Given the description of an element on the screen output the (x, y) to click on. 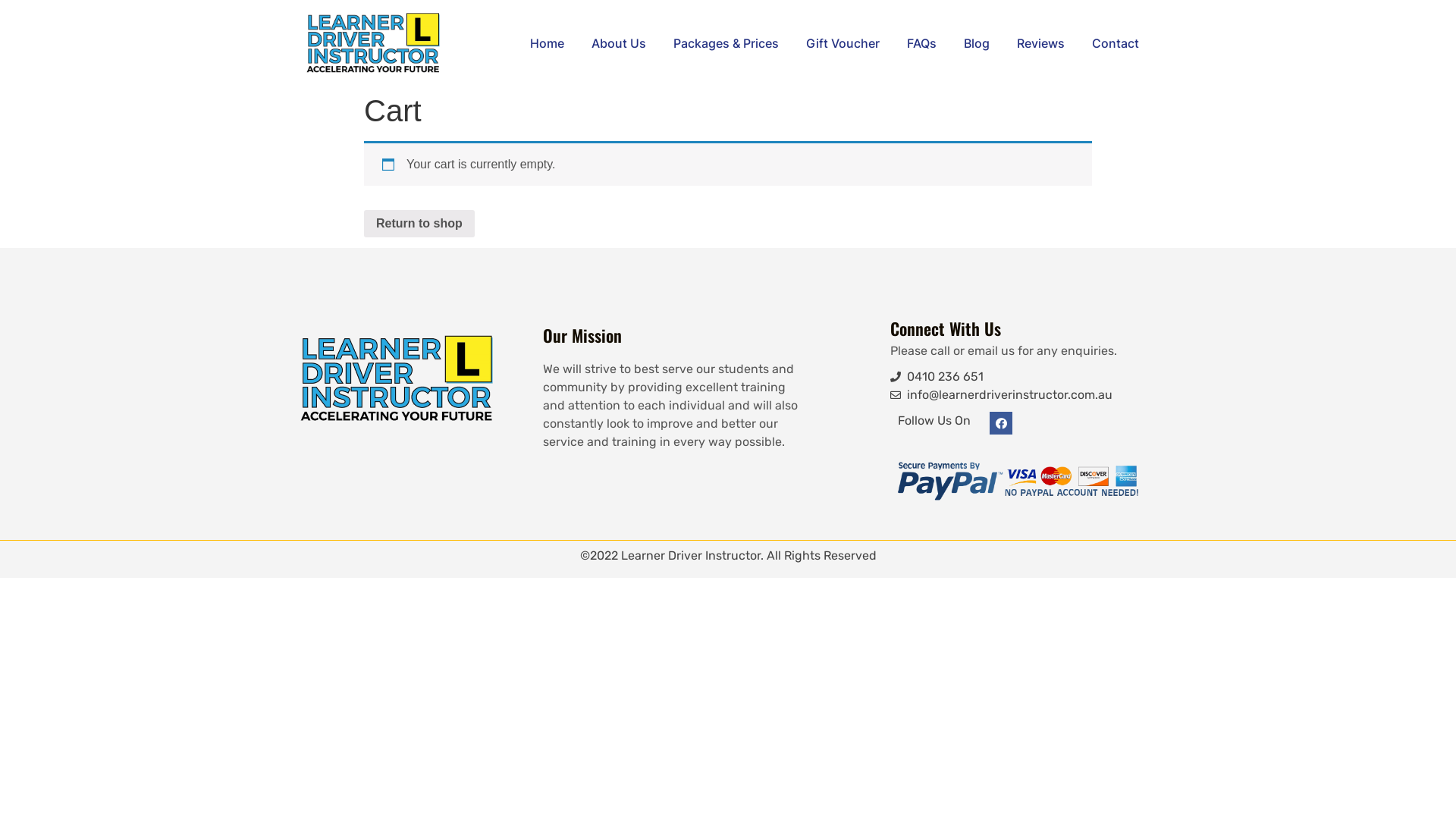
Gift Voucher Element type: text (842, 43)
Contact Element type: text (1115, 43)
Packages & Prices Element type: text (725, 43)
Home Element type: text (546, 43)
Return to shop Element type: text (419, 223)
info@learnerdriverinstructor.com.au Element type: text (1018, 394)
Blog Element type: text (976, 43)
About Us Element type: text (618, 43)
Reviews Element type: text (1040, 43)
FAQs Element type: text (921, 43)
